Given the description of an element on the screen output the (x, y) to click on. 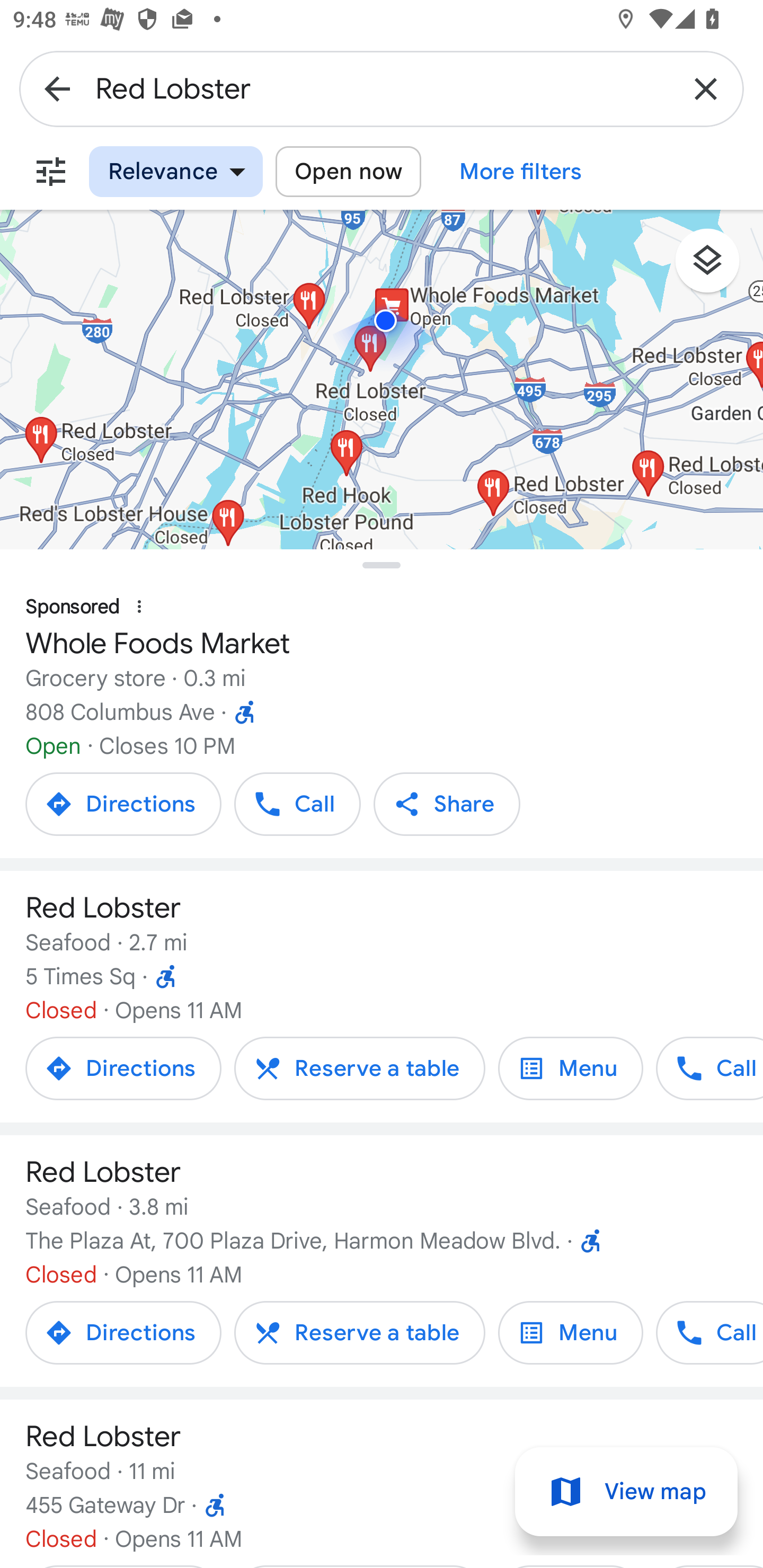
Back (57, 88)
Red Lobster (381, 88)
Clear (705, 88)
More filters (50, 171)
Relevance Relevance Relevance (175, 171)
Open now Open now Open now (348, 171)
More filters More filters More filters (521, 171)
Layers (716, 267)
About this ad (139, 606)
Reserve a table Reserve a table Reserve a table (359, 1068)
Red Lobster Menu Menu Red Lobster Menu (570, 1068)
Reserve a table Reserve a table Reserve a table (359, 1332)
Red Lobster Menu Menu Red Lobster Menu (570, 1332)
View map Map view (626, 1491)
